Given the description of an element on the screen output the (x, y) to click on. 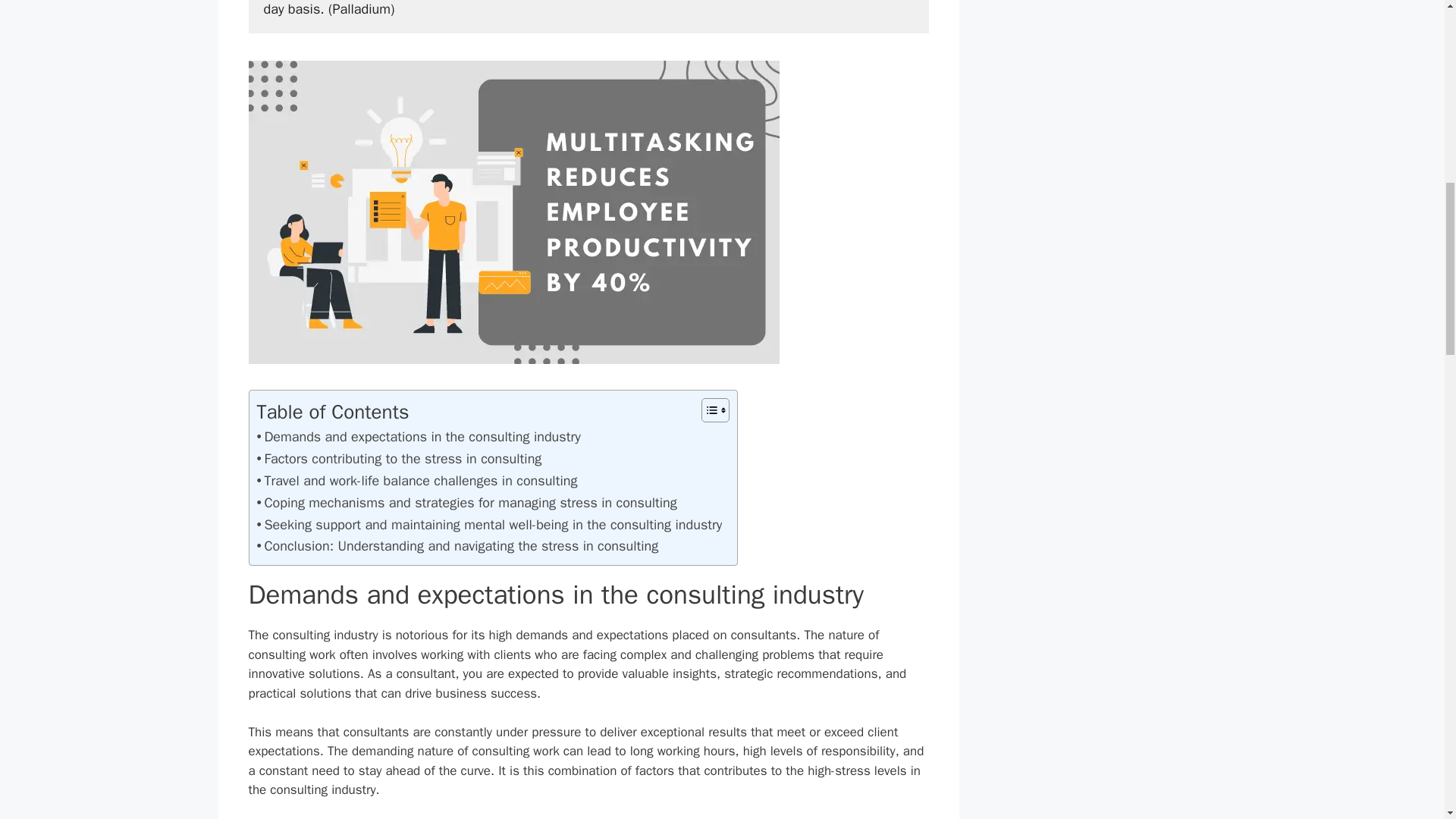
Travel and work-life balance challenges in consulting (416, 481)
Travel and work-life balance challenges in consulting (416, 481)
Factors contributing to the stress in consulting (398, 458)
Factors contributing to the stress in consulting (398, 458)
Demands and expectations in the consulting industry (417, 436)
Demands and expectations in the consulting industry (417, 436)
